Given the description of an element on the screen output the (x, y) to click on. 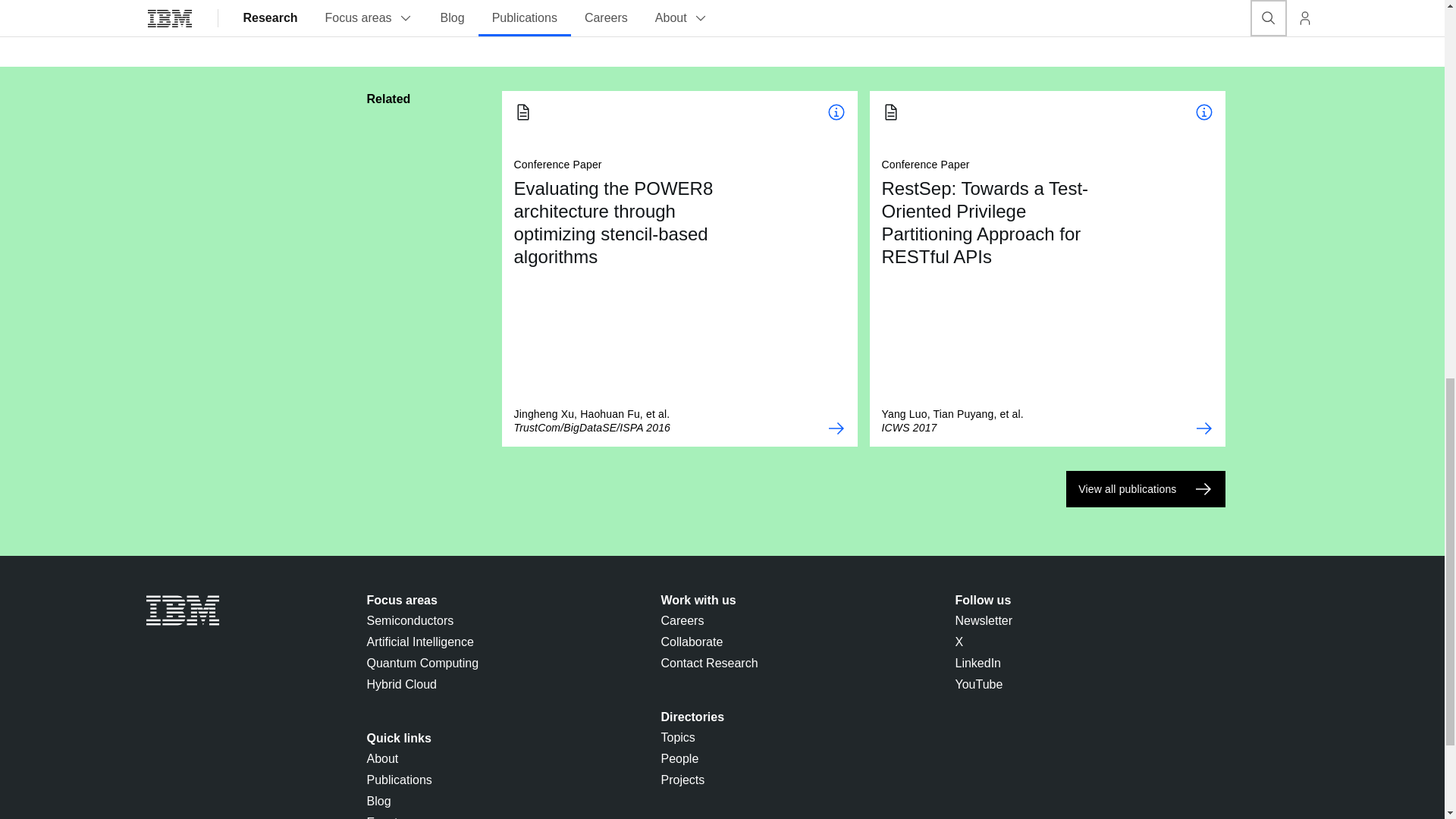
IBM Logo (181, 610)
